Given the description of an element on the screen output the (x, y) to click on. 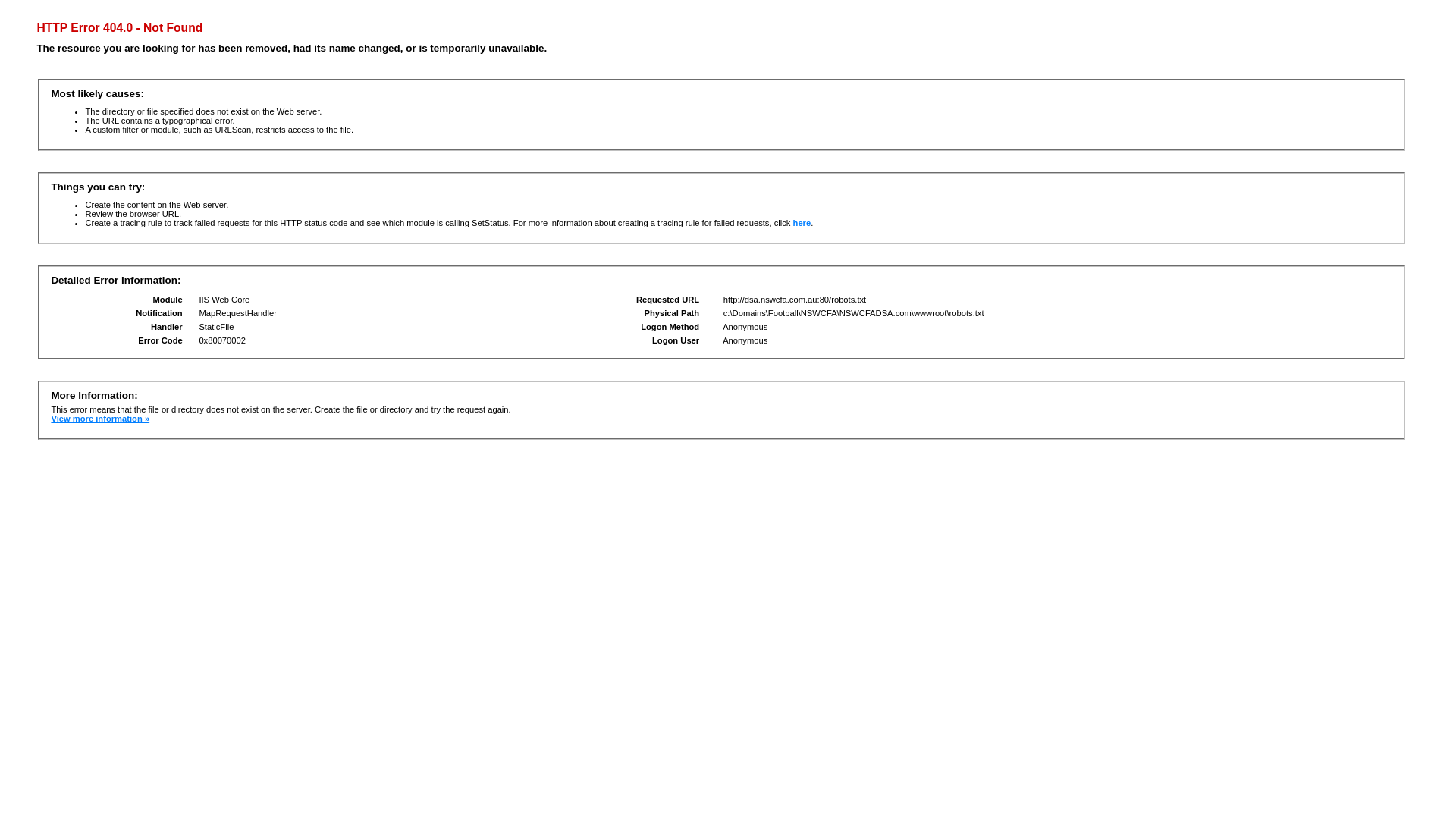
here Element type: text (802, 222)
